Given the description of an element on the screen output the (x, y) to click on. 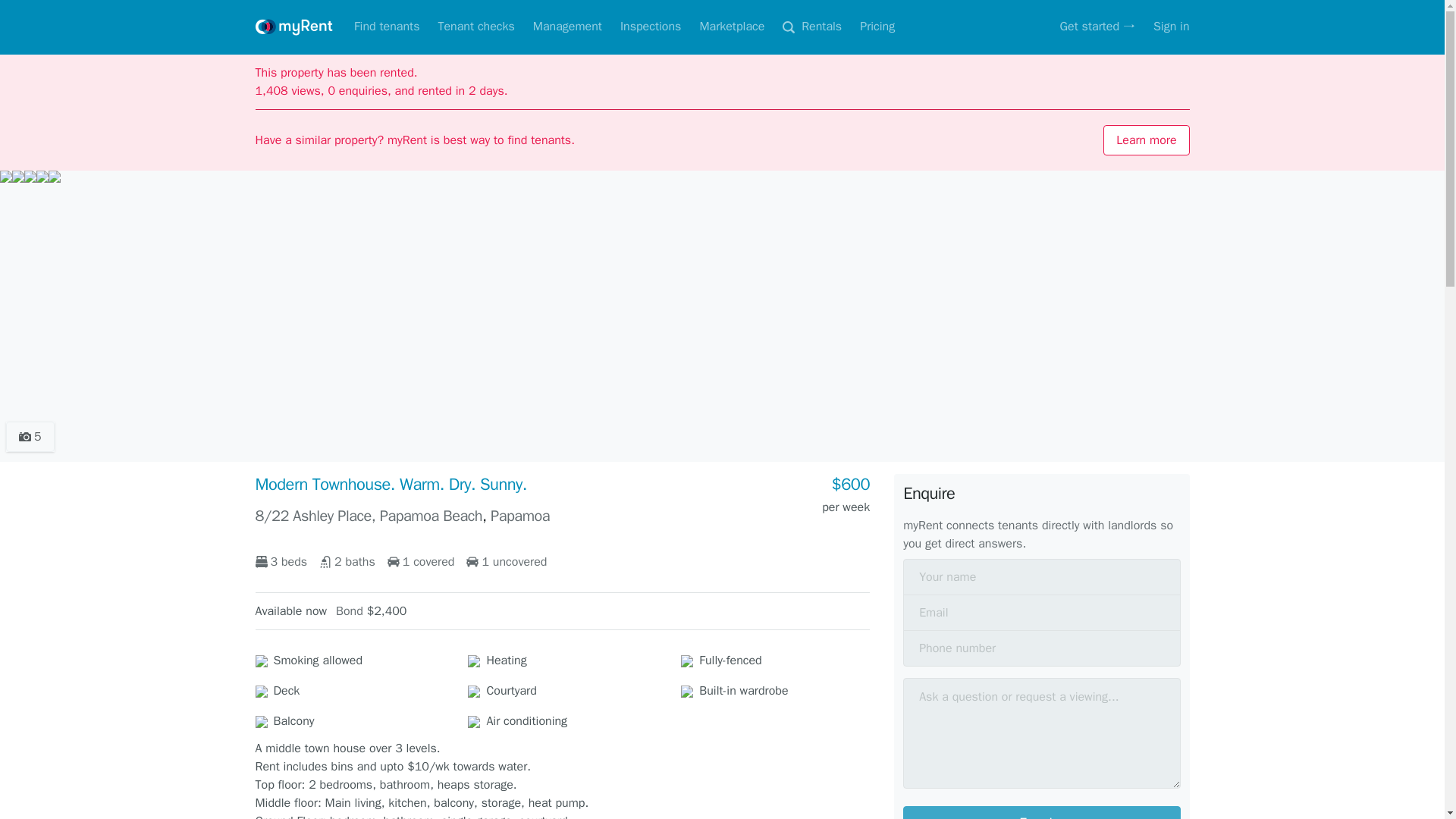
Enquire (1040, 812)
Management (567, 27)
Find tenants (386, 27)
5 (30, 436)
Inspections (650, 27)
Marketplace (731, 27)
Papamoa Beach (430, 515)
Rentals (812, 27)
Pricing (877, 27)
Sign in (1171, 27)
Learn more (1146, 140)
Papamoa (520, 515)
Tenant checks (475, 27)
Enquire (1040, 812)
